Given the description of an element on the screen output the (x, y) to click on. 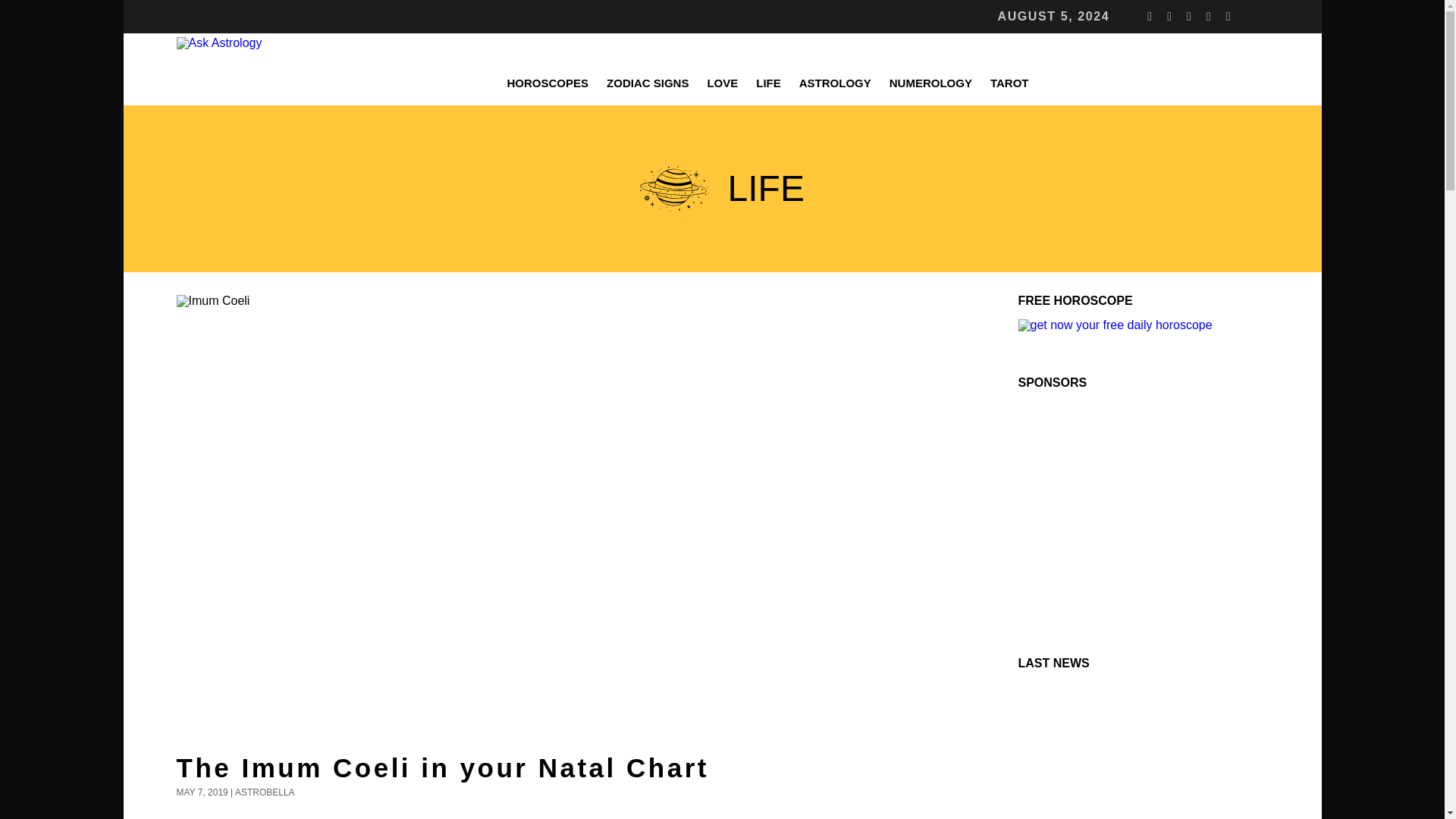
HOROSCOPES (547, 82)
ZODIAC SIGNS (646, 82)
AUGUST 5, 2024 (1053, 16)
